Given the description of an element on the screen output the (x, y) to click on. 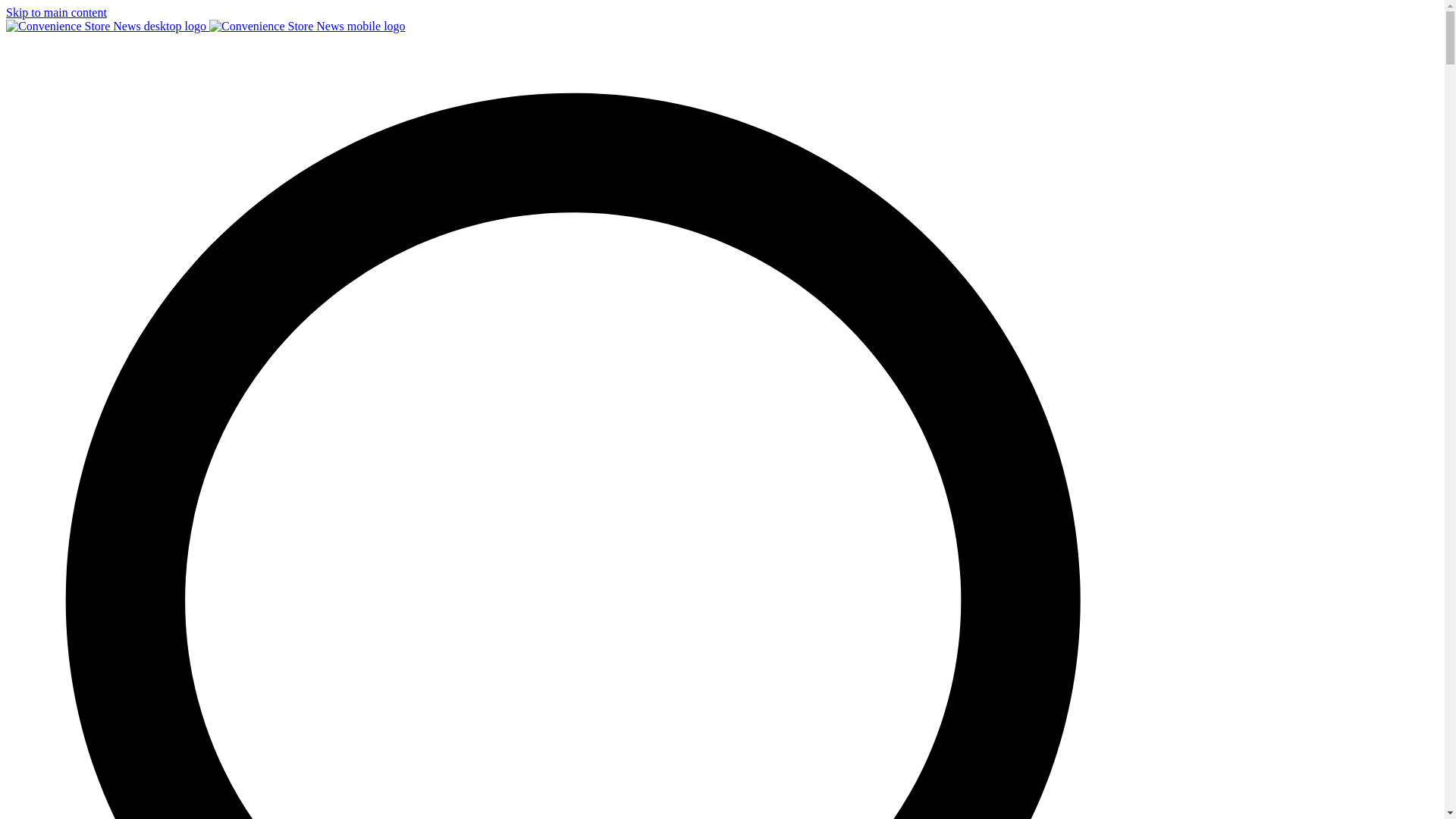
Skip to main content (55, 11)
